Given the description of an element on the screen output the (x, y) to click on. 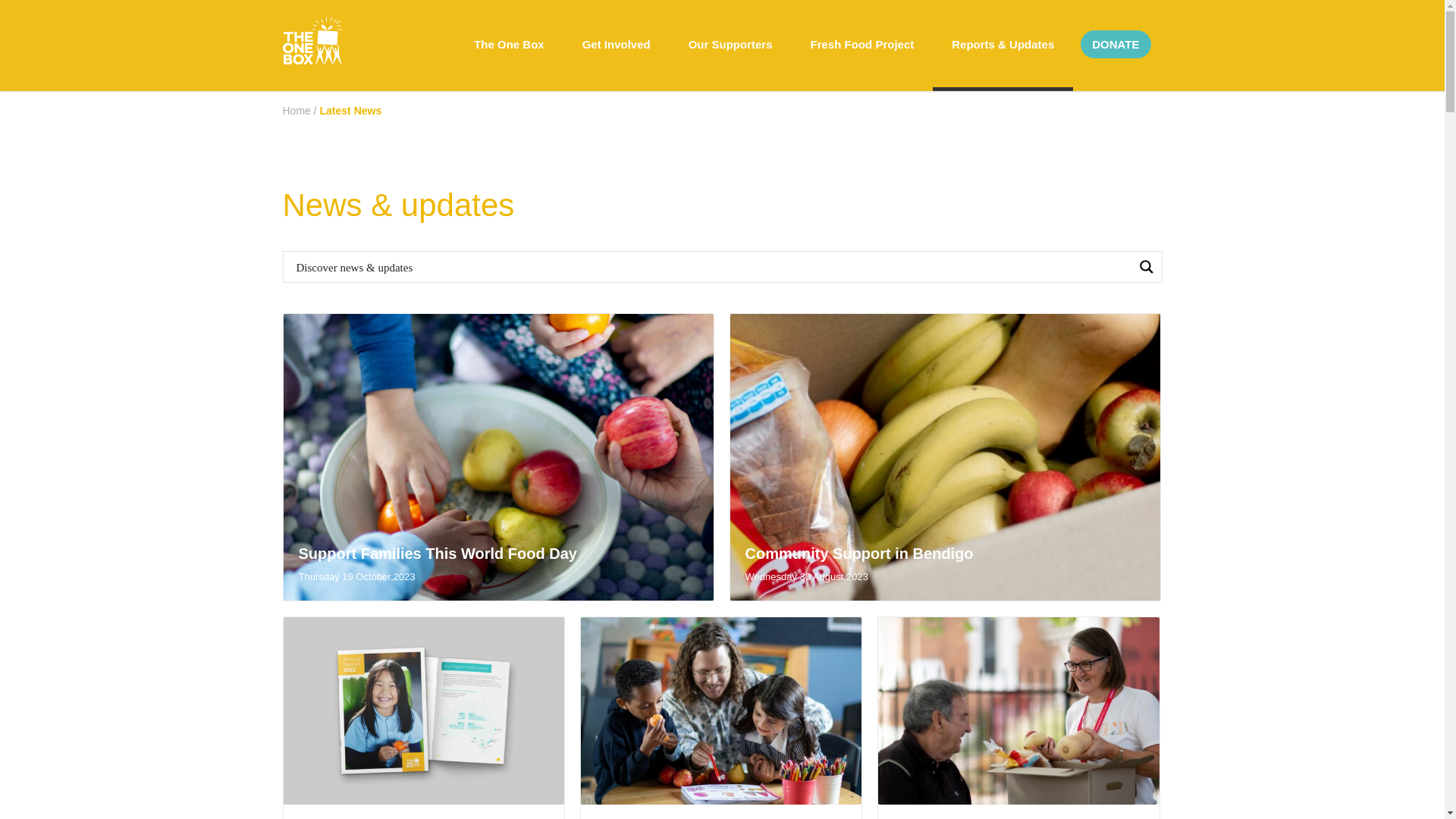
Community Support in Bendigo Element type: text (858, 553)
Reports & Updates Element type: text (1002, 44)
The One Box Element type: text (508, 44)
Permalink to 2022 Annual Report Element type: hover (423, 709)
Permalink to Support Families This World Food Day Element type: hover (498, 456)
Home Element type: text (296, 110)
Permalink to Community Support in Bendigo Element type: hover (944, 456)
Fresh Food Project Element type: text (862, 44)
Support Families This World Food Day Element type: text (437, 553)
Our Supporters Element type: text (730, 44)
DONATE Element type: text (1115, 44)
Get Involved Element type: text (616, 44)
